Given the description of an element on the screen output the (x, y) to click on. 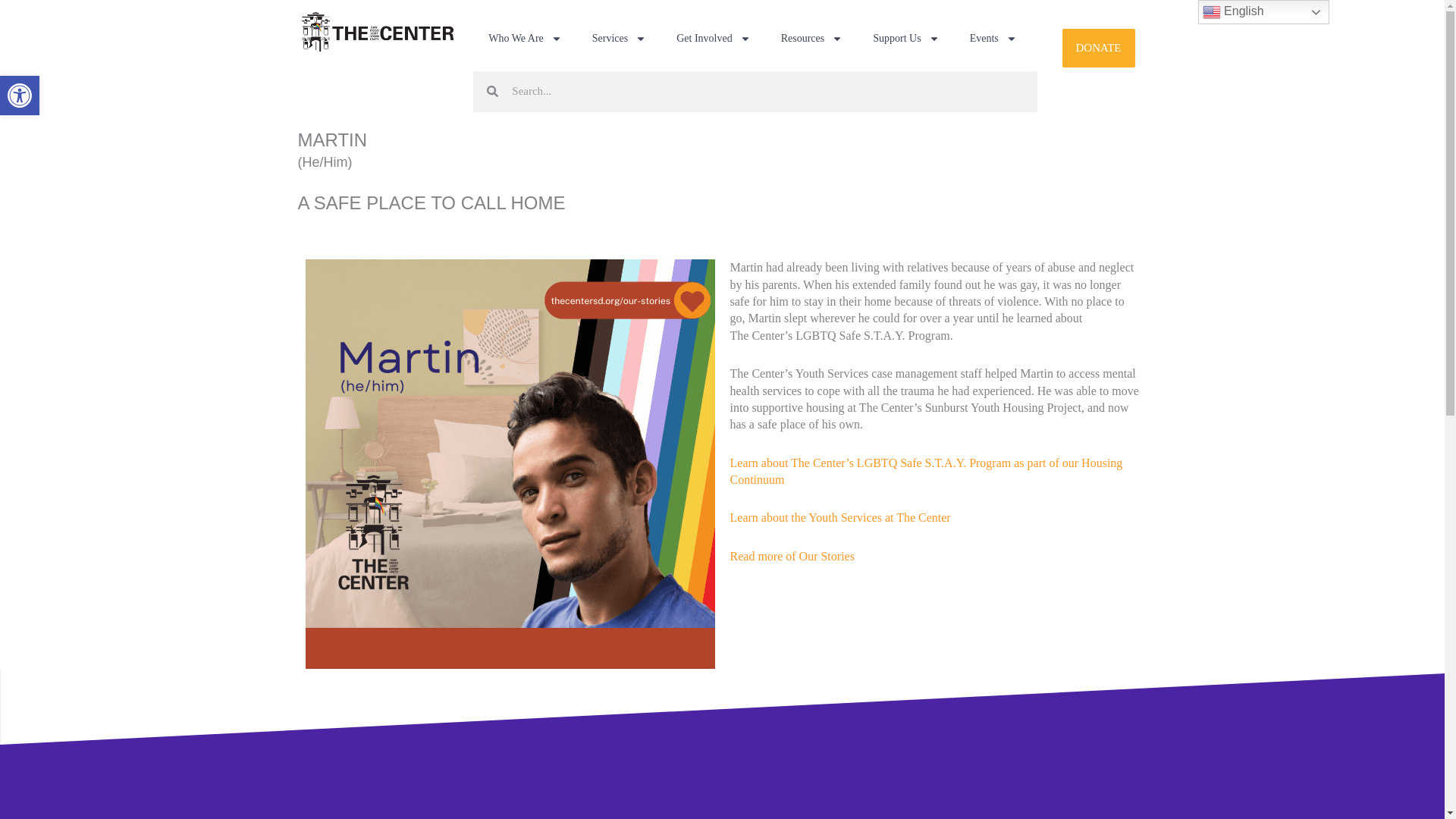
Who We Are (524, 38)
Accessibility Tools (19, 95)
Accessibility Tools (19, 95)
Services (19, 95)
